Given the description of an element on the screen output the (x, y) to click on. 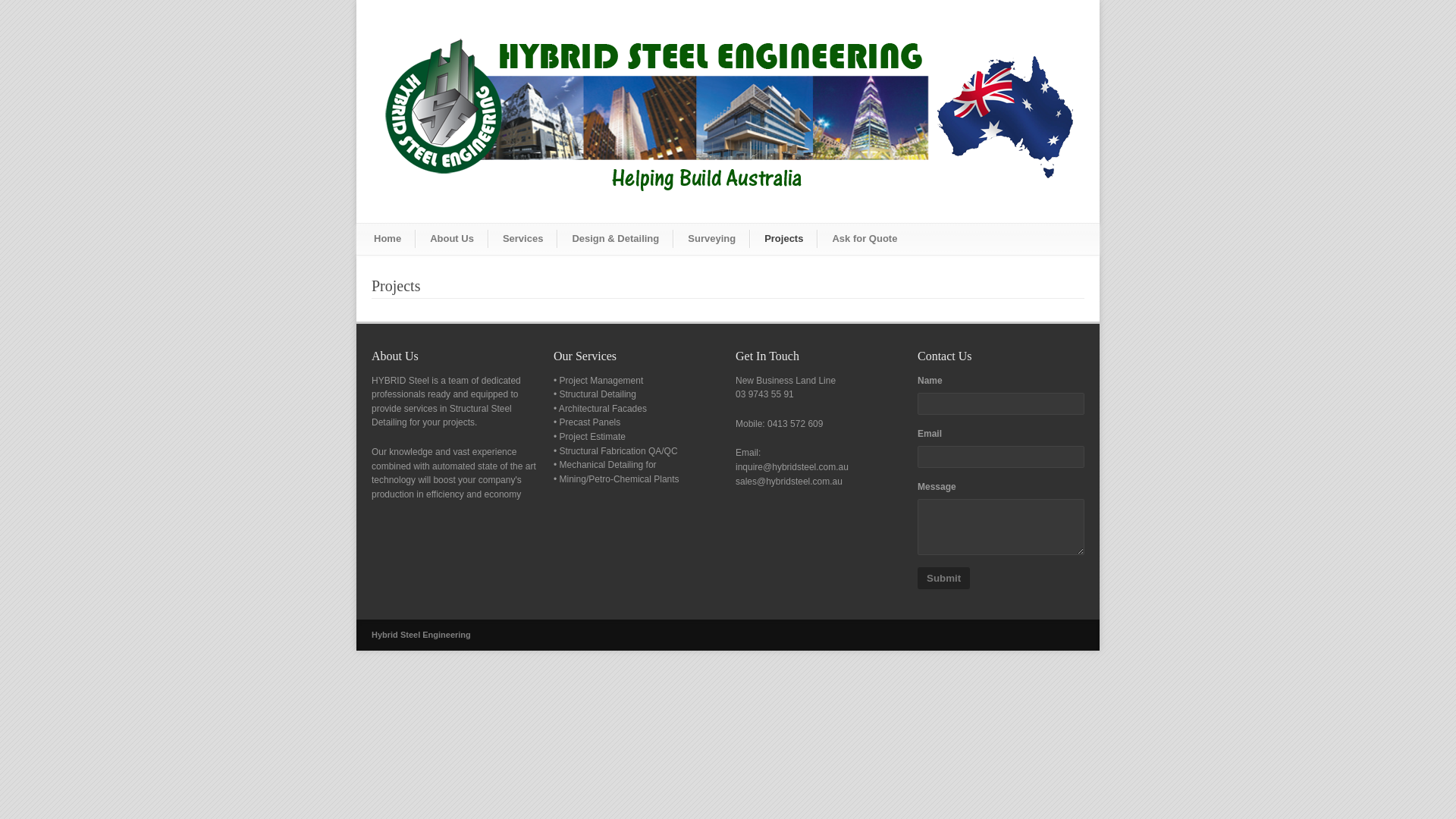
Services Element type: text (523, 238)
About Us Element type: text (451, 238)
Surveying Element type: text (711, 238)
Submit Element type: text (943, 578)
Design & Detailing Element type: text (615, 238)
Ask for Quote Element type: text (863, 238)
Projects Element type: text (783, 238)
Home Element type: text (387, 238)
